Given the description of an element on the screen output the (x, y) to click on. 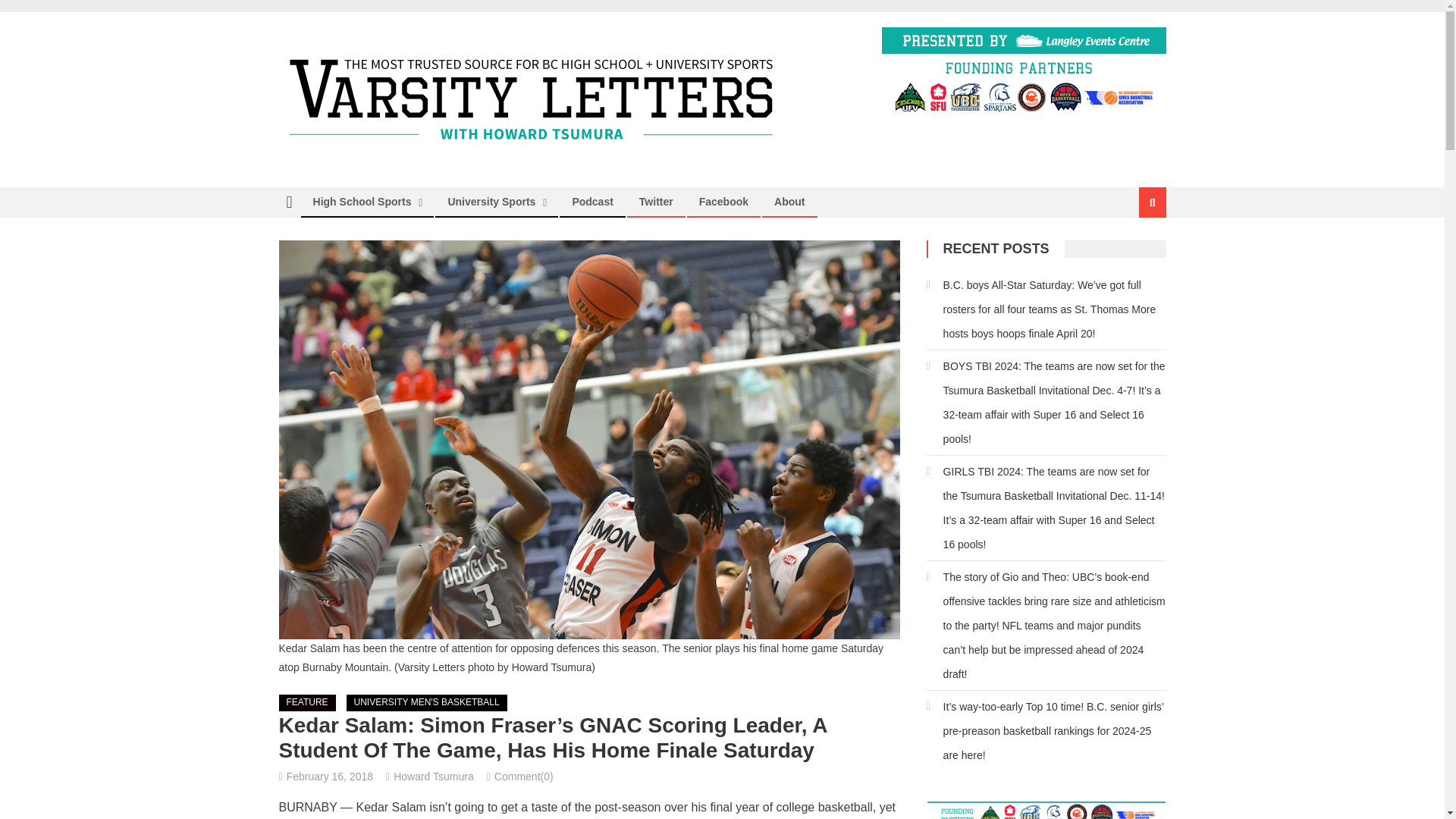
Facebook (723, 201)
High School Sports (362, 201)
Podcast (592, 201)
Twitter (655, 201)
University Sports (491, 201)
